Given the description of an element on the screen output the (x, y) to click on. 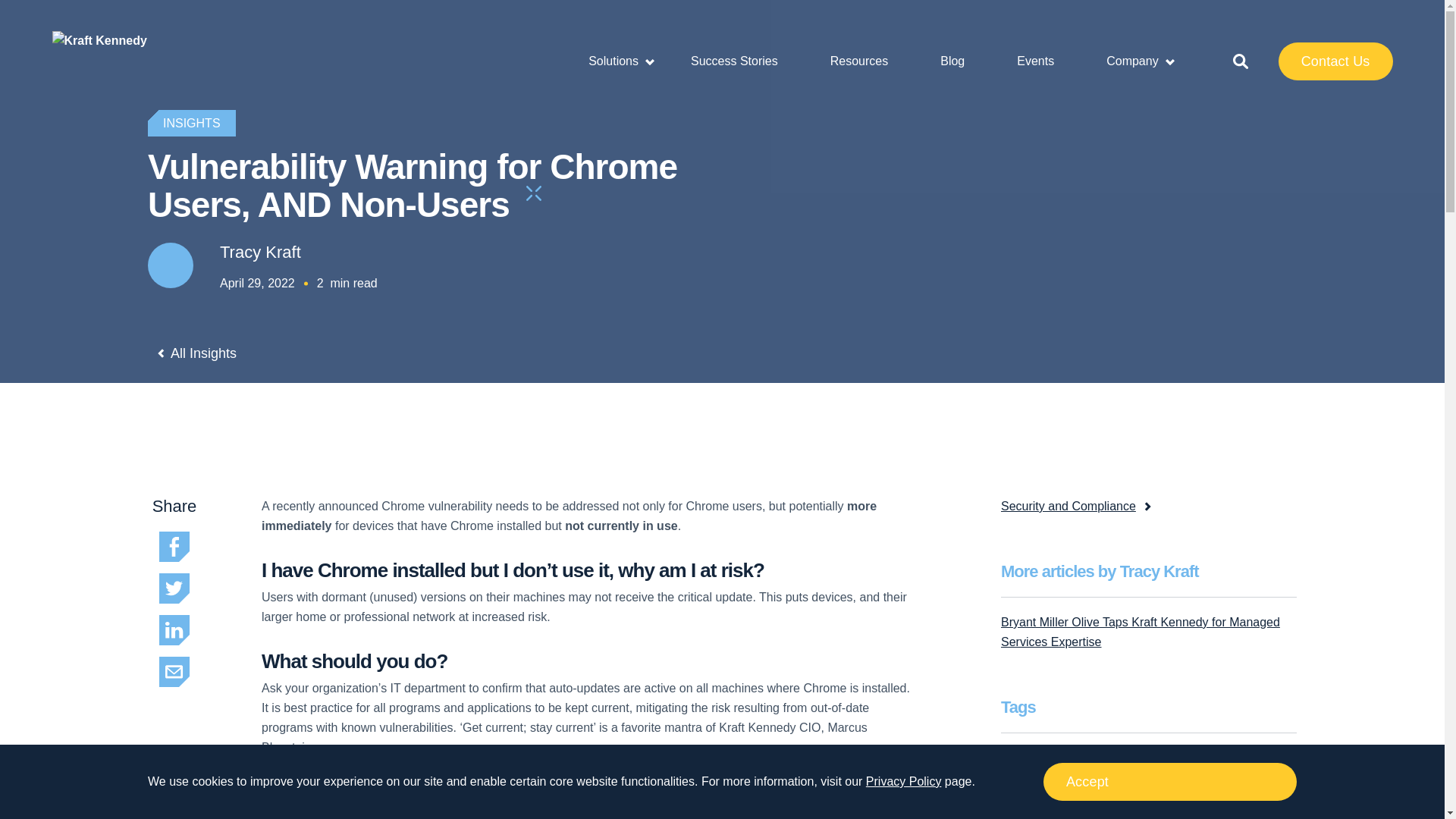
Solutions (623, 60)
Success Stories (743, 60)
Resources (868, 60)
Company (1141, 60)
Blog (962, 60)
Events (1044, 60)
